Given the description of an element on the screen output the (x, y) to click on. 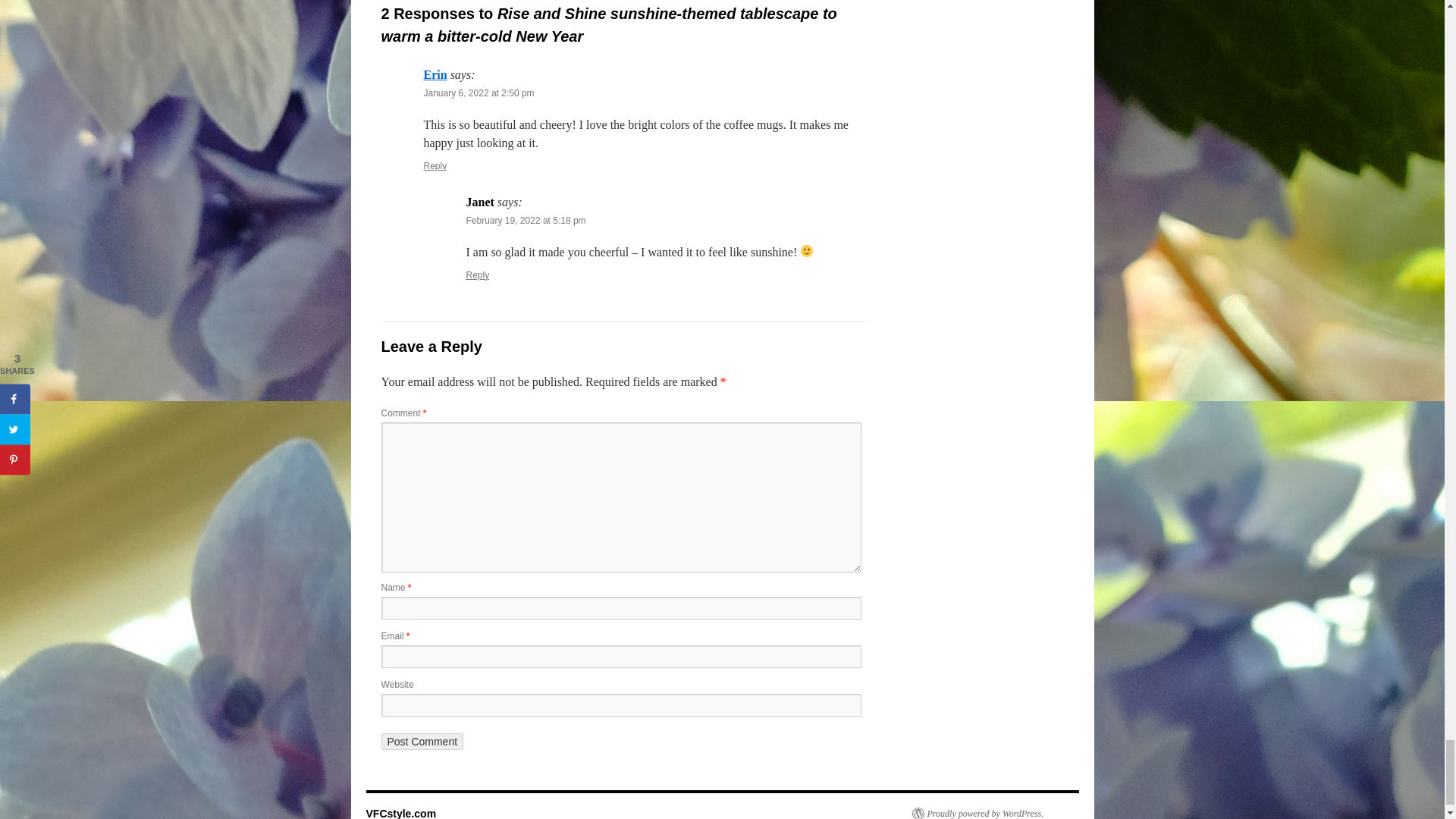
Post Comment (421, 741)
January 6, 2022 at 2:50 pm (478, 92)
February 19, 2022 at 5:18 pm (525, 220)
Reply (477, 275)
Reply (434, 165)
Post Comment (421, 741)
Erin (434, 74)
